Given the description of an element on the screen output the (x, y) to click on. 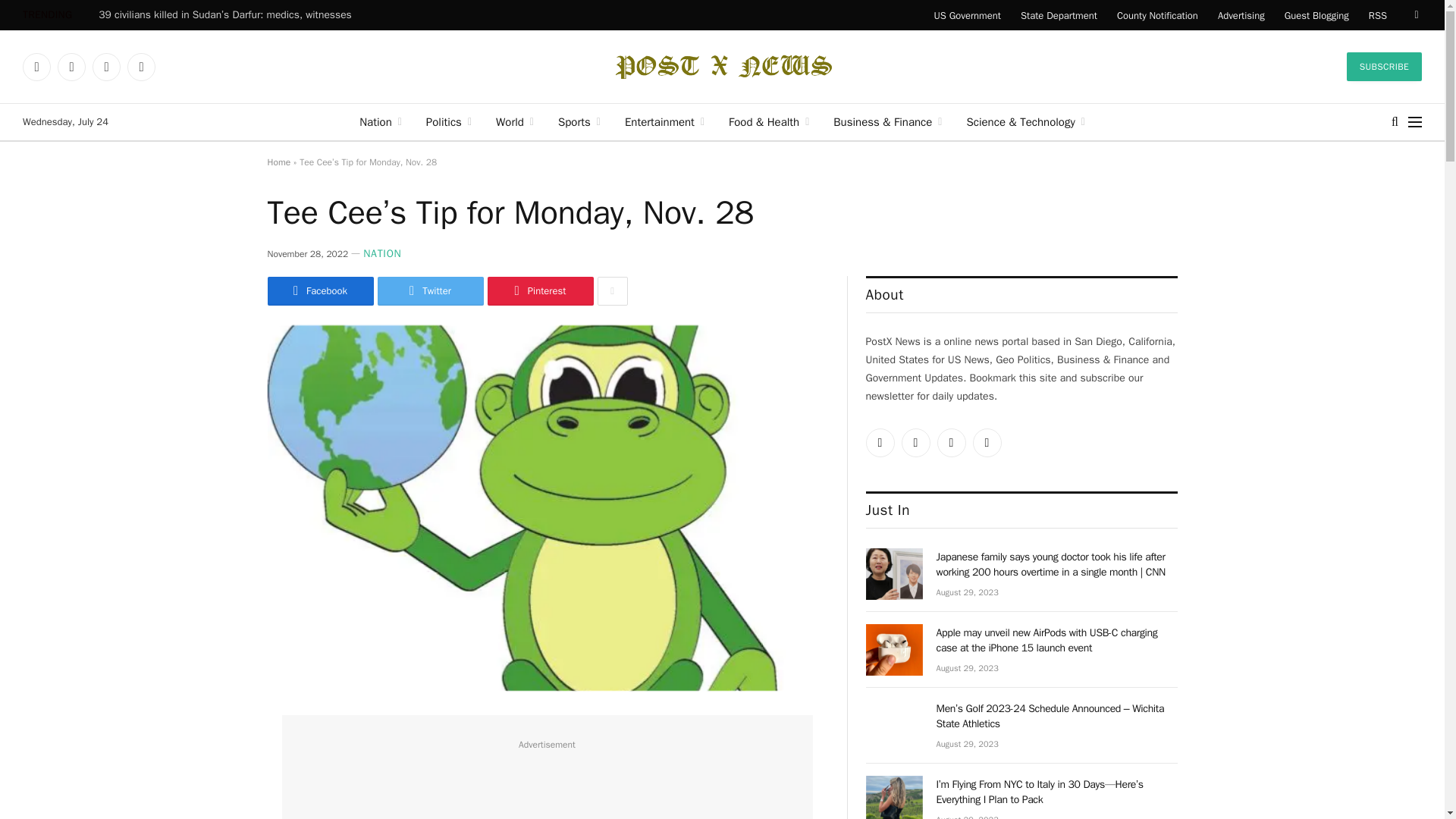
Instagram (106, 67)
Twitter (36, 67)
PostX News (721, 66)
State Department (1058, 15)
SUBSCRIBE (1384, 66)
RSS (1377, 15)
Facebook (71, 67)
RSS (141, 67)
Advertising (1241, 15)
Nation (380, 122)
US Government (966, 15)
Guest Blogging (1316, 15)
Switch to Dark Design - easier on eyes. (1414, 14)
County Notification (1157, 15)
